Given the description of an element on the screen output the (x, y) to click on. 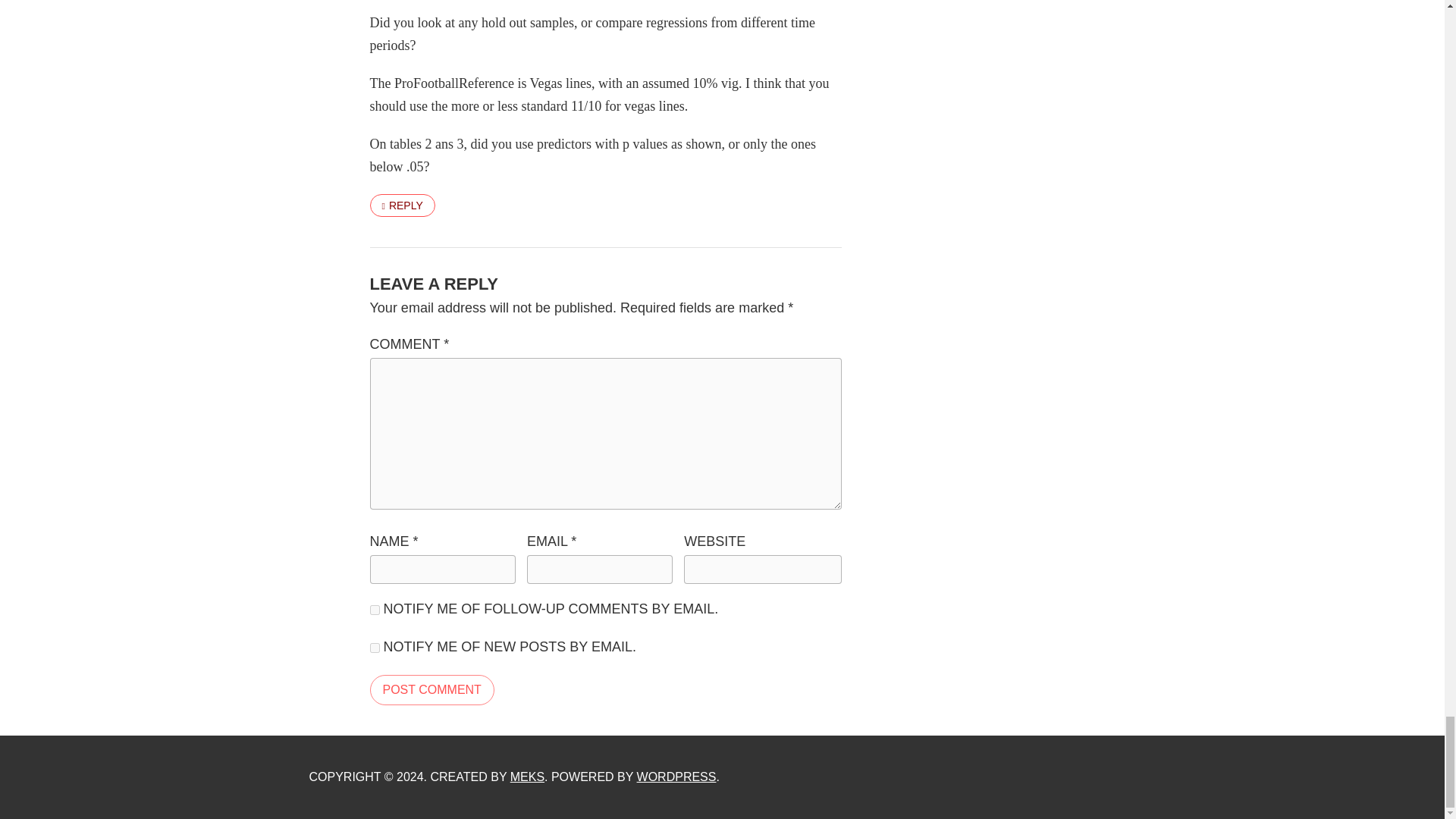
Post Comment (432, 689)
subscribe (374, 647)
subscribe (374, 610)
